Given the description of an element on the screen output the (x, y) to click on. 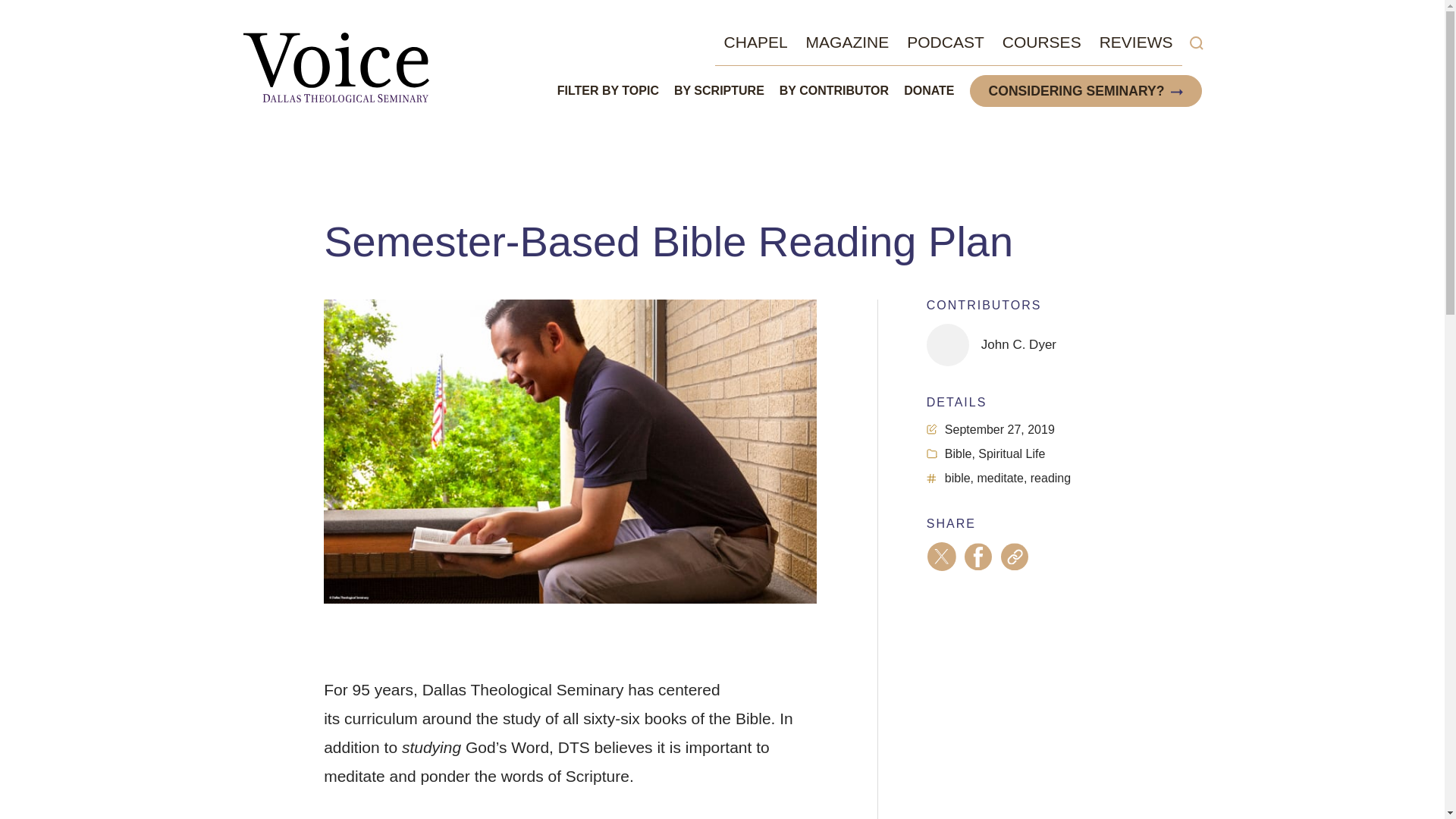
DONATE (928, 90)
CHAPEL (755, 42)
BY CONTRIBUTOR (833, 90)
COURSES (1042, 42)
search (1196, 42)
BY SCRIPTURE (719, 90)
PODCAST (945, 42)
CONSIDERING SEMINARY? (1076, 91)
REVIEWS (1136, 42)
FILTER BY TOPIC (608, 90)
